Given the description of an element on the screen output the (x, y) to click on. 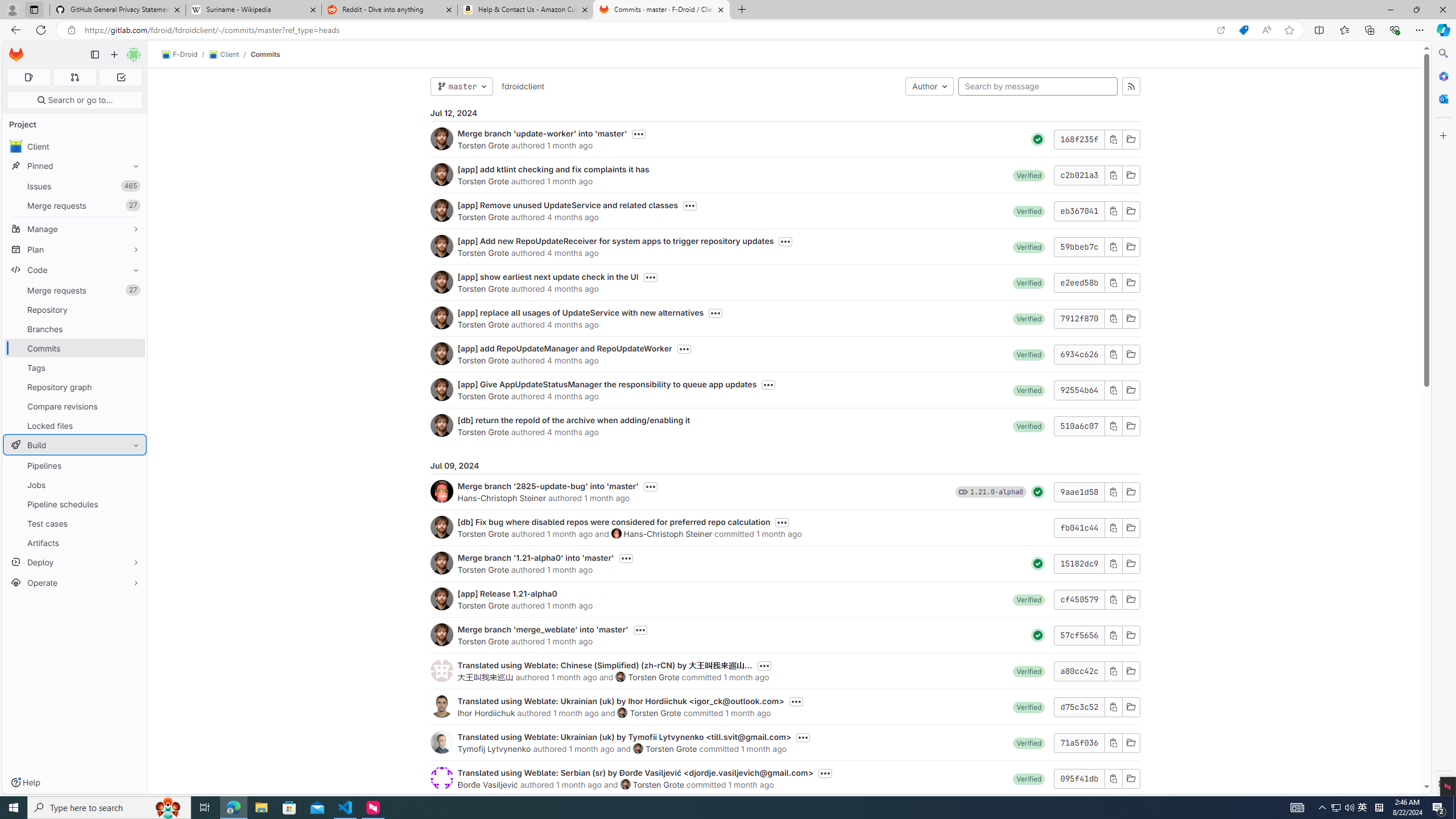
Class: s16 gl-icon gl-button-icon  (1113, 777)
Pipeline schedules (74, 503)
Unpin Issues (132, 186)
Hans-Christoph Steiner (667, 533)
Unpin Merge requests (132, 290)
Build (74, 444)
Jobs (74, 484)
Jobs (74, 484)
